Given the description of an element on the screen output the (x, y) to click on. 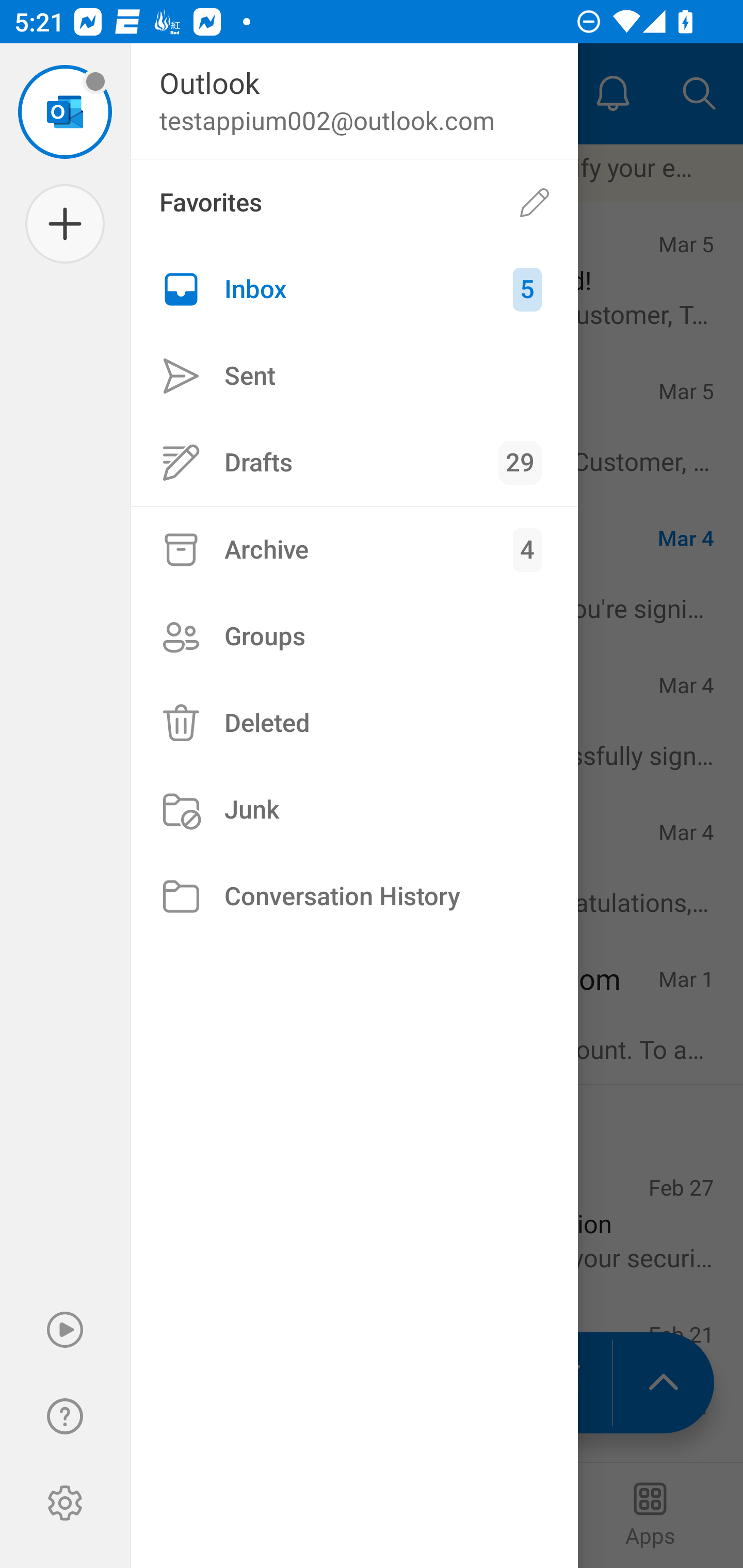
testappium002@outlook.com (64, 111)
Edit favorites (534, 202)
Add account (64, 224)
Inbox Inbox, 5 unread emails,Selected (354, 289)
Sent (354, 375)
Drafts Drafts, 29 unread emails (354, 462)
Archive Archive, 2 of 6, level 1, 4 unread emails (354, 549)
Groups Groups, 3 of 6, level 1 (354, 636)
Deleted Deleted, 4 of 6, level 1 (354, 723)
Junk Junk, 5 of 6, level 1 (354, 809)
Play My Emails (64, 1329)
Help (64, 1416)
Settings (64, 1502)
